Given the description of an element on the screen output the (x, y) to click on. 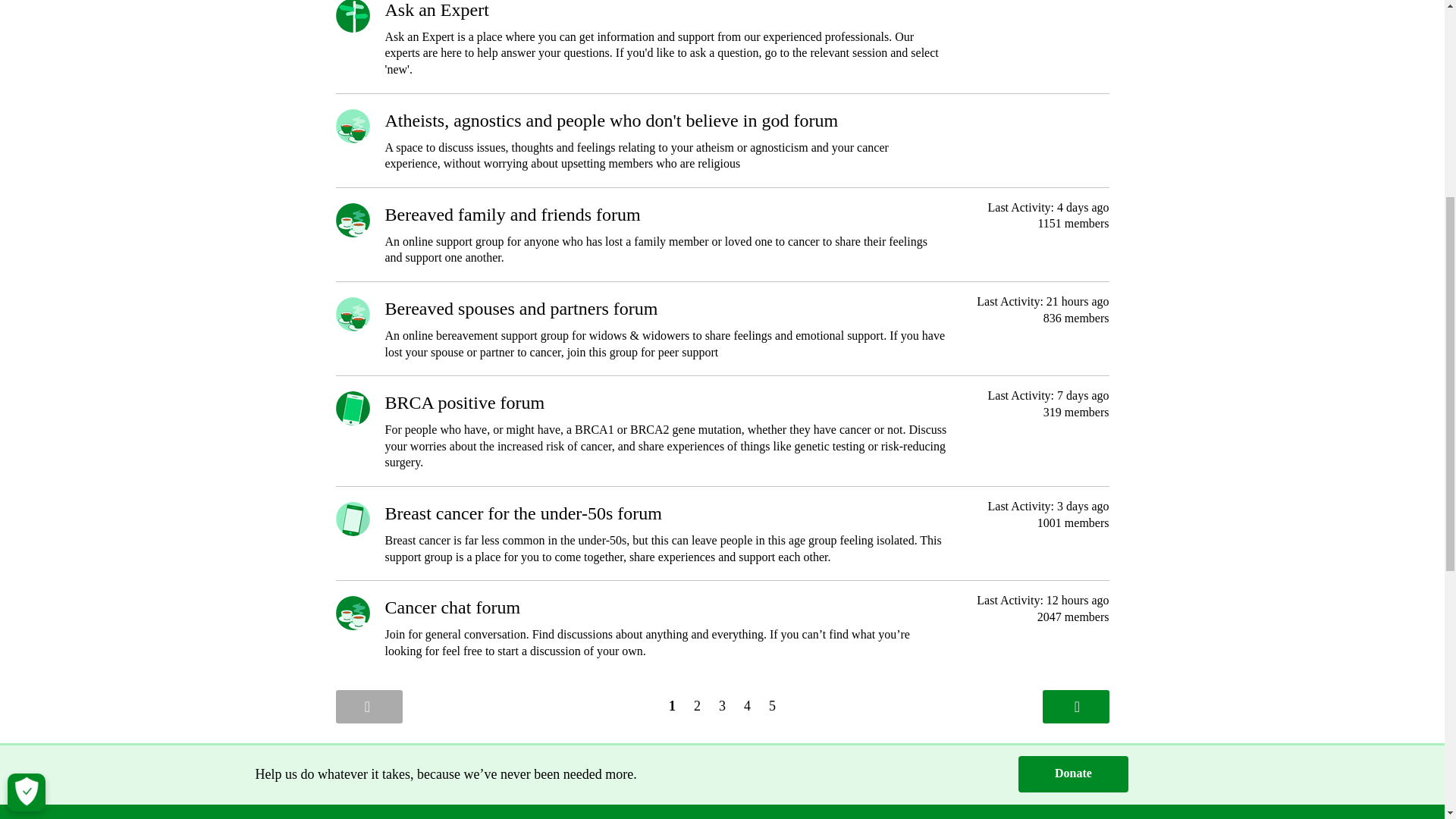
1 (671, 705)
Bereaved spouses and partners forum (521, 308)
Breast cancer for the under-50s forum (523, 513)
5 (772, 705)
Donate (1072, 773)
Ask an Expert (437, 9)
Breast cancer for the under-50s forum (523, 513)
2 (696, 705)
4 (747, 705)
Bereaved family and friends forum (512, 214)
3 (722, 705)
Cancer chat forum (453, 607)
Cancer chat forum (453, 607)
